Given the description of an element on the screen output the (x, y) to click on. 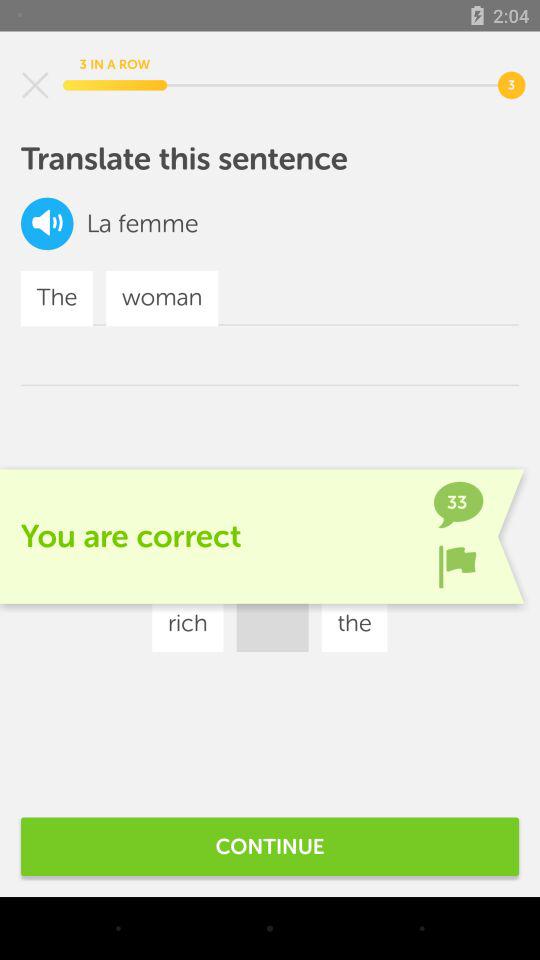
launch icon to the left of the the item (187, 624)
